Given the description of an element on the screen output the (x, y) to click on. 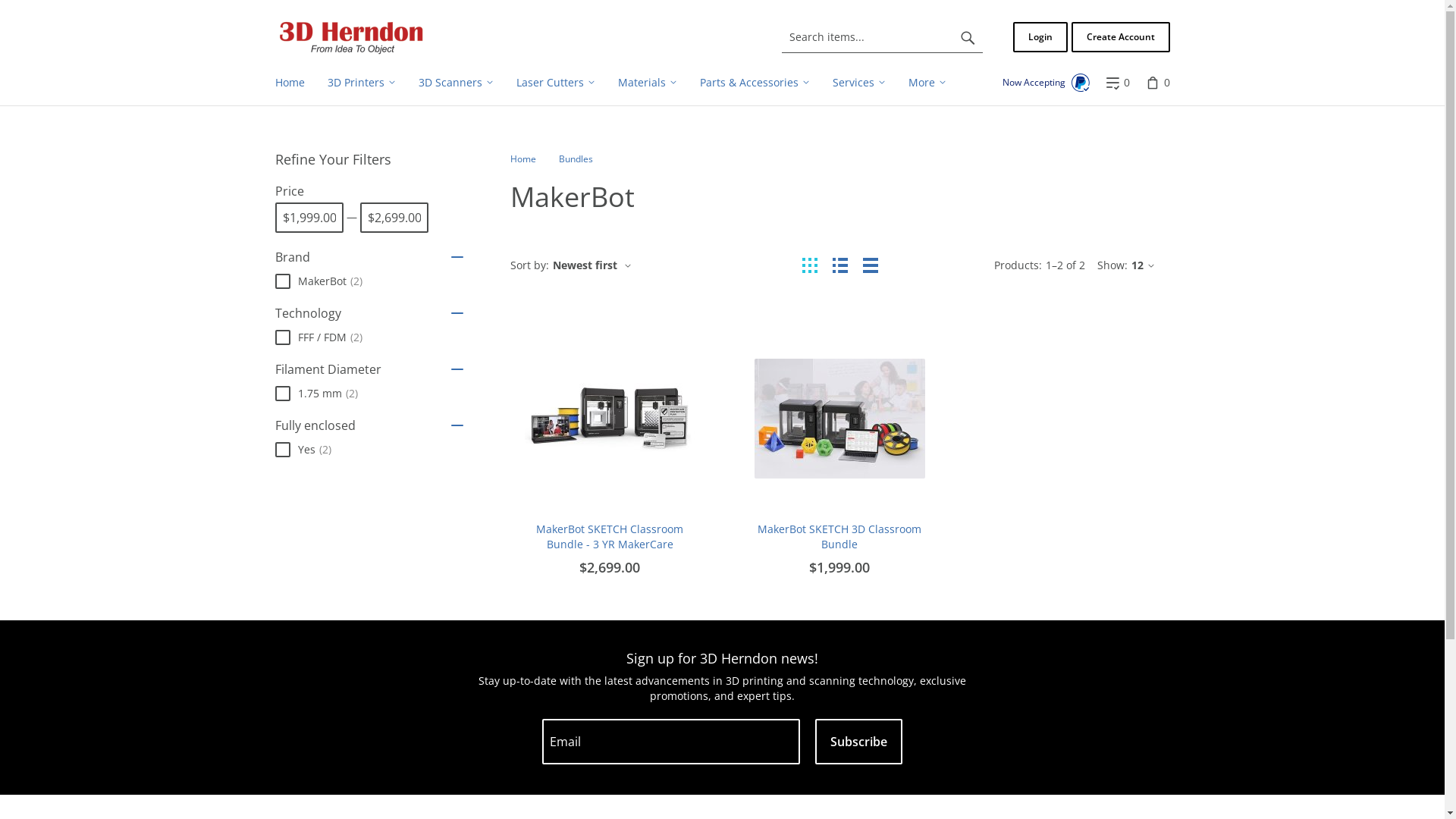
0 Element type: text (1116, 82)
Bundles Element type: text (575, 158)
Home Element type: text (289, 82)
Grid Element type: hover (809, 264)
MakerBot SKETCH Classroom Bundle - 3 YR MakerCare Element type: text (608, 536)
Home Element type: text (522, 158)
Parts & Accessories Element type: text (754, 82)
Table Element type: hover (870, 264)
Create Account Element type: text (1119, 36)
Home Element type: hover (350, 36)
MakerBot SKETCH 3D Classroom Bundle Element type: text (839, 536)
Subscribe Element type: text (858, 741)
Login Element type: text (1040, 36)
Search Element type: hover (967, 36)
List Element type: hover (839, 264)
